Given the description of an element on the screen output the (x, y) to click on. 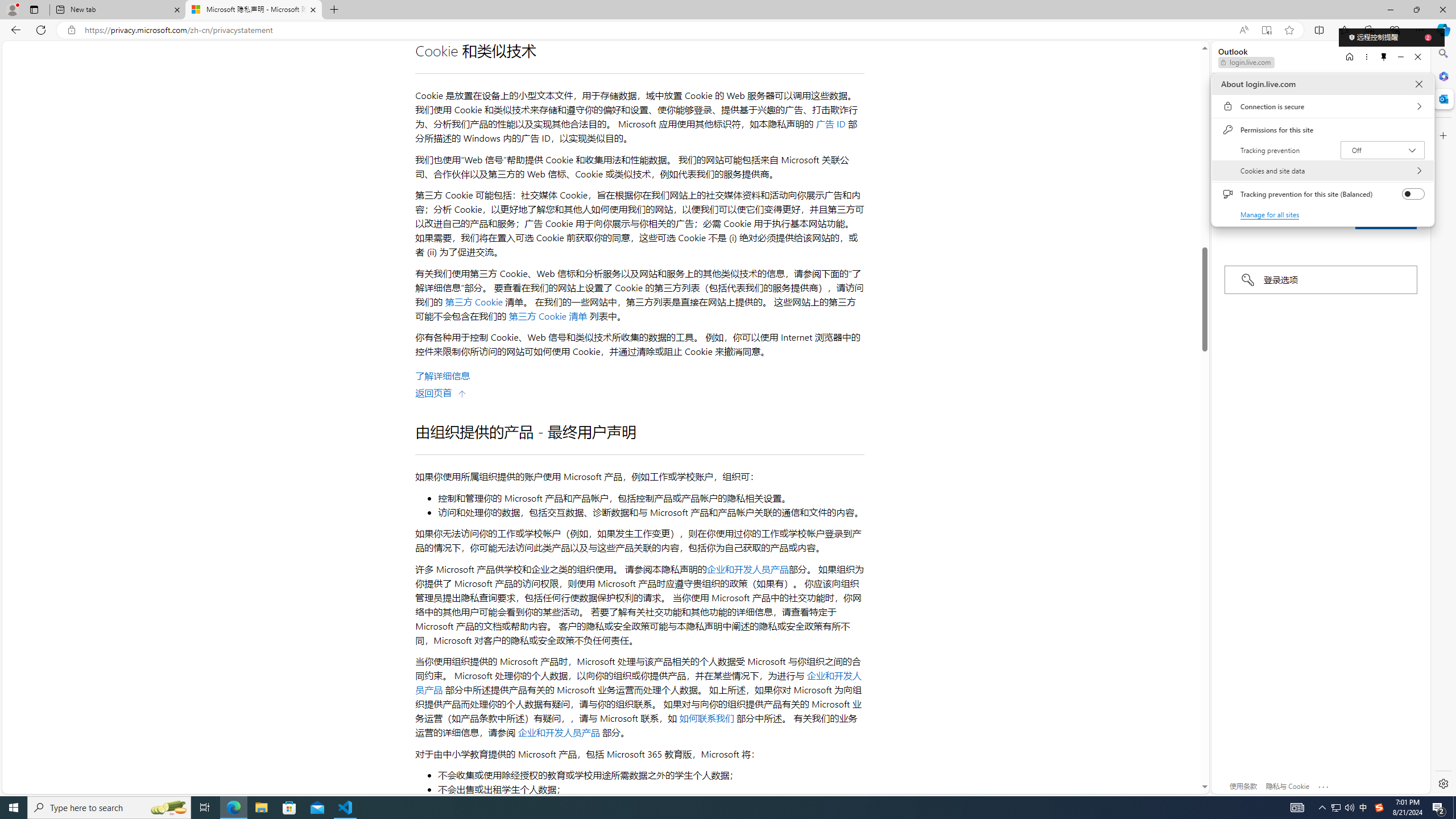
Start (13, 807)
Permissions for this site (1322, 129)
Cookies and site data (1322, 170)
About login.live.com (1418, 83)
Show desktop (1454, 807)
Tray Input Indicator - Chinese (Simplified, China) (1378, 807)
Microsoft Store (289, 807)
Tracking prevention for this site (Balanced) (1413, 193)
Tracking prevention Off (1382, 149)
Microsoft Edge - 1 running window (233, 807)
